Given the description of an element on the screen output the (x, y) to click on. 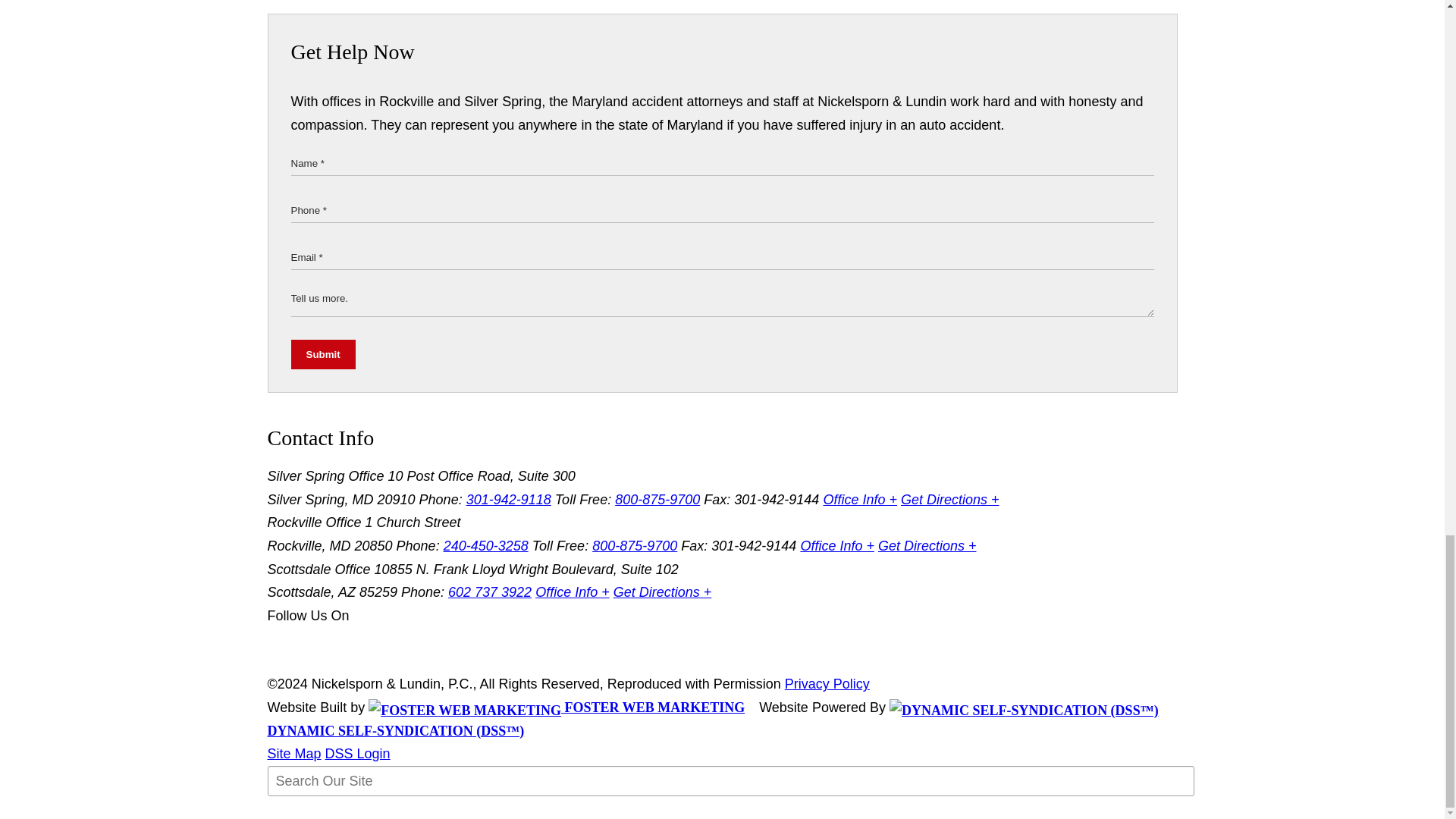
301-942-9118 (508, 499)
800-875-9700 (634, 545)
Submit (323, 354)
240-450-3258 (486, 545)
800-875-9700 (657, 499)
